Given the description of an element on the screen output the (x, y) to click on. 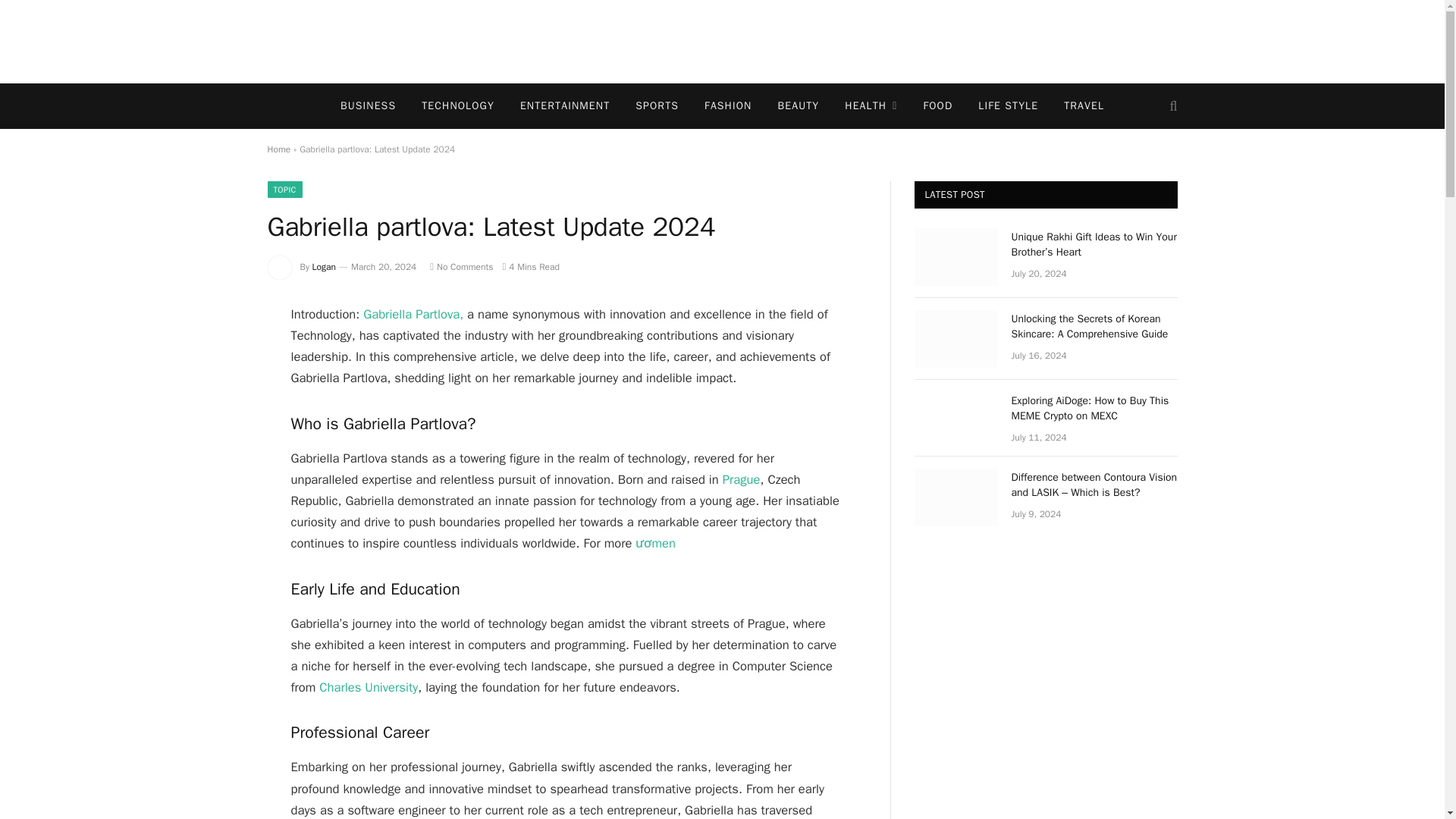
TECHNOLOGY (457, 105)
No Comments (461, 266)
FASHION (727, 105)
LIFE STYLE (1008, 105)
BUSINESS (368, 105)
Posts by Logan (324, 266)
HEALTH (870, 105)
Home (277, 149)
SPORTS (657, 105)
TOPIC (283, 189)
